Given the description of an element on the screen output the (x, y) to click on. 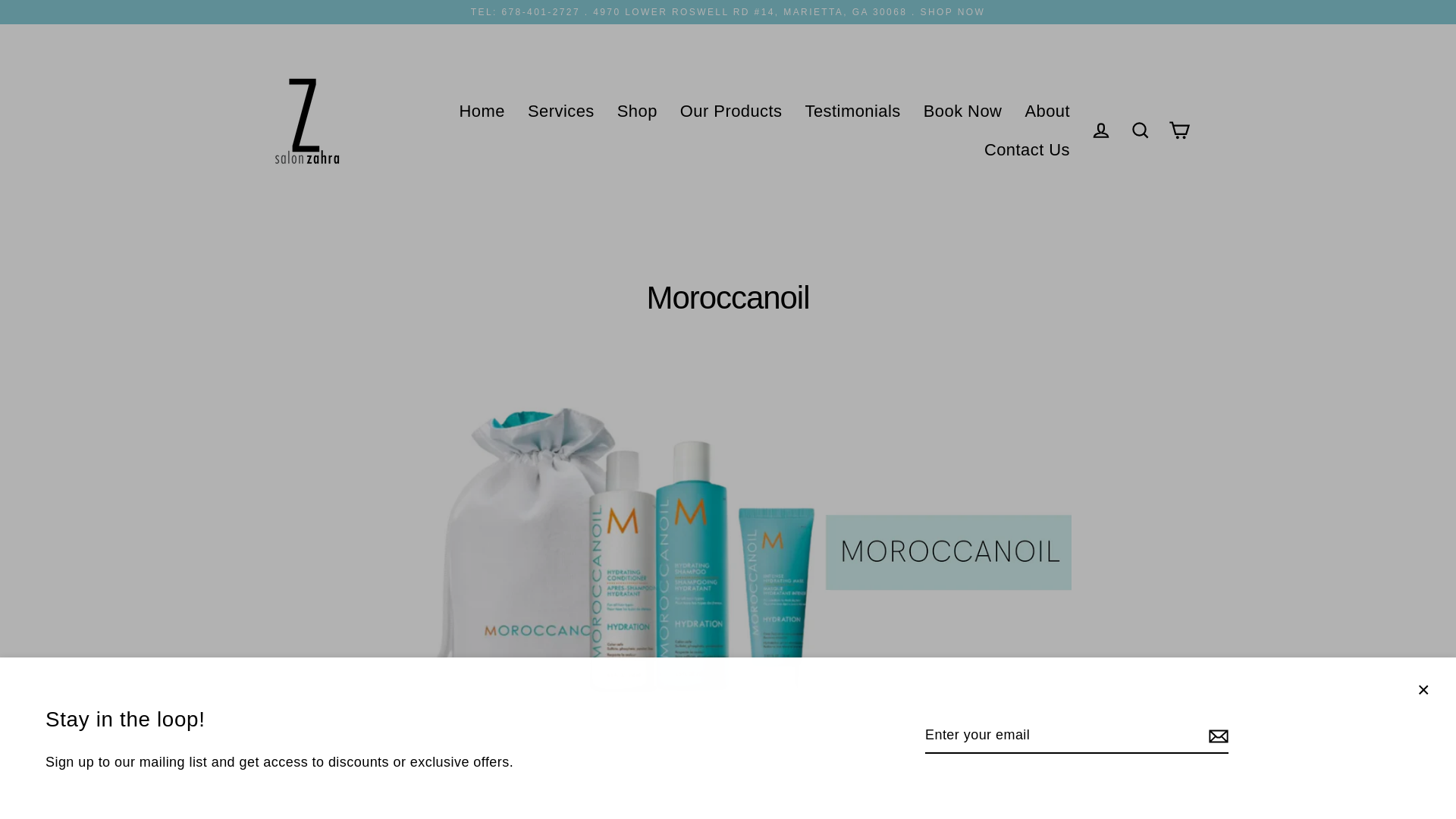
Shop (636, 111)
Home (482, 111)
Services (560, 111)
